Given the description of an element on the screen output the (x, y) to click on. 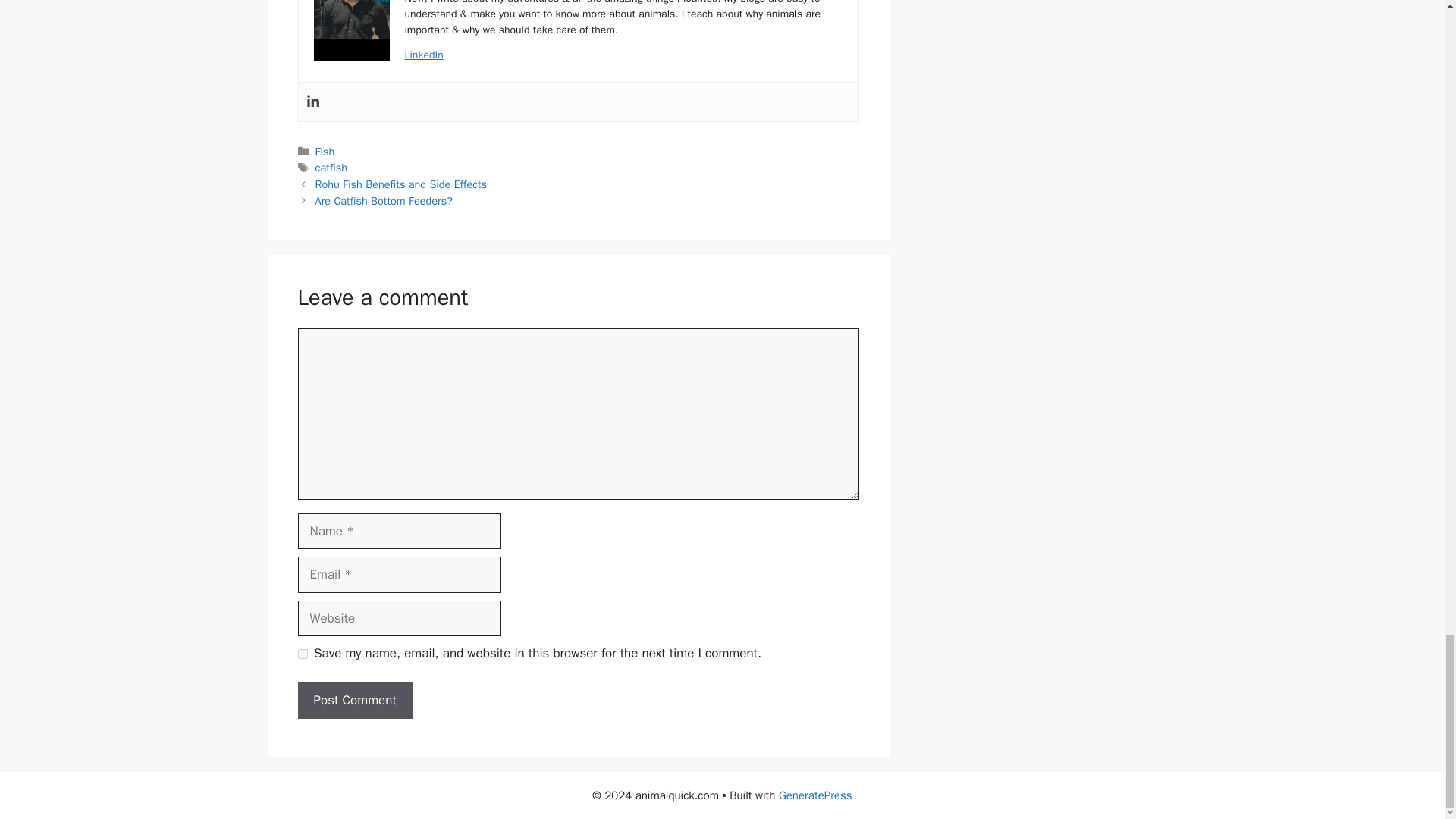
yes (302, 654)
Post Comment (354, 700)
Fish (324, 151)
LinkedIn (424, 54)
Rohu Fish Benefits and Side Effects (401, 183)
Are Catfish Bottom Feeders? (383, 201)
catfish (331, 167)
Post Comment (354, 700)
